Given the description of an element on the screen output the (x, y) to click on. 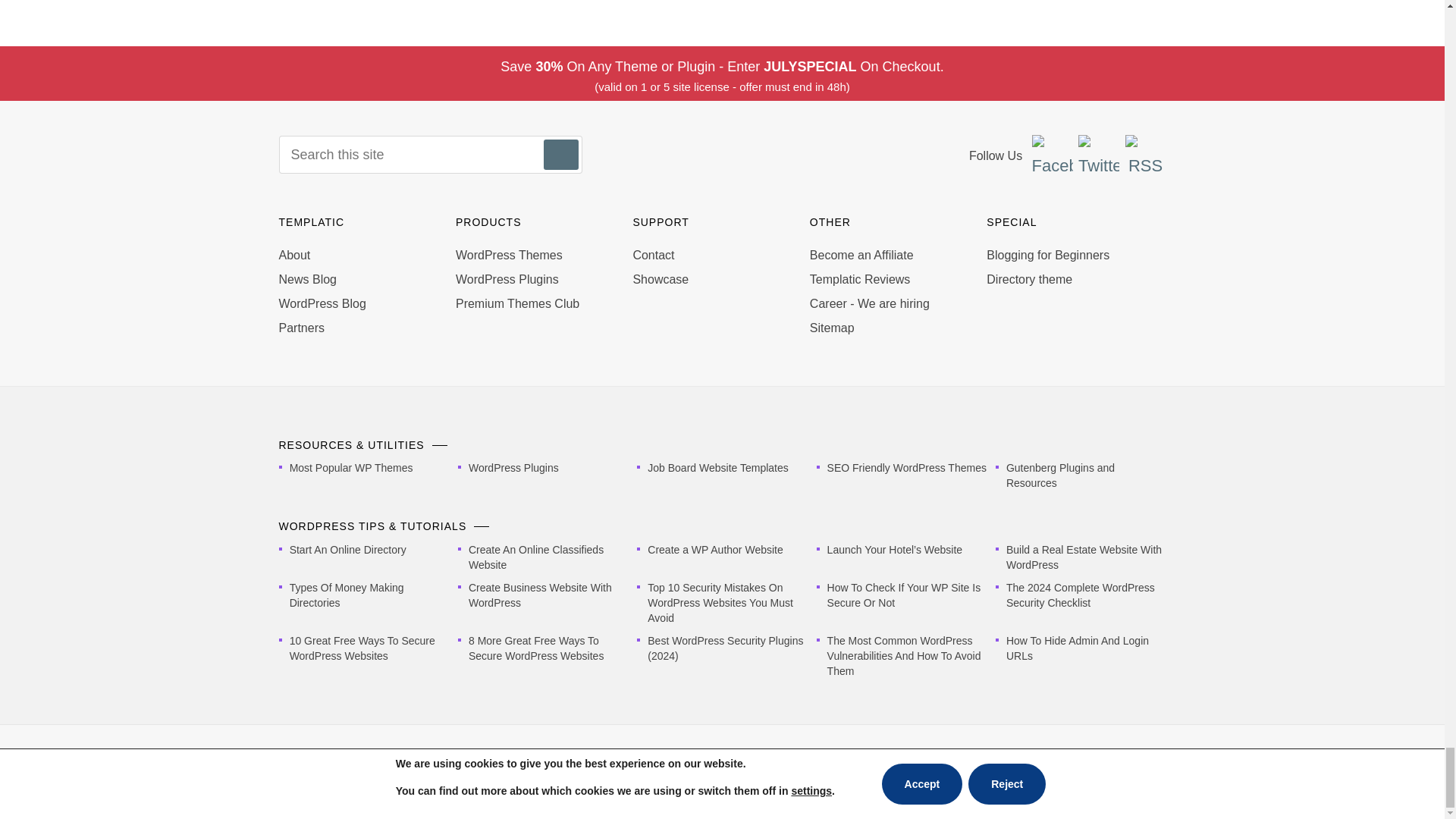
Search (560, 154)
